Given the description of an element on the screen output the (x, y) to click on. 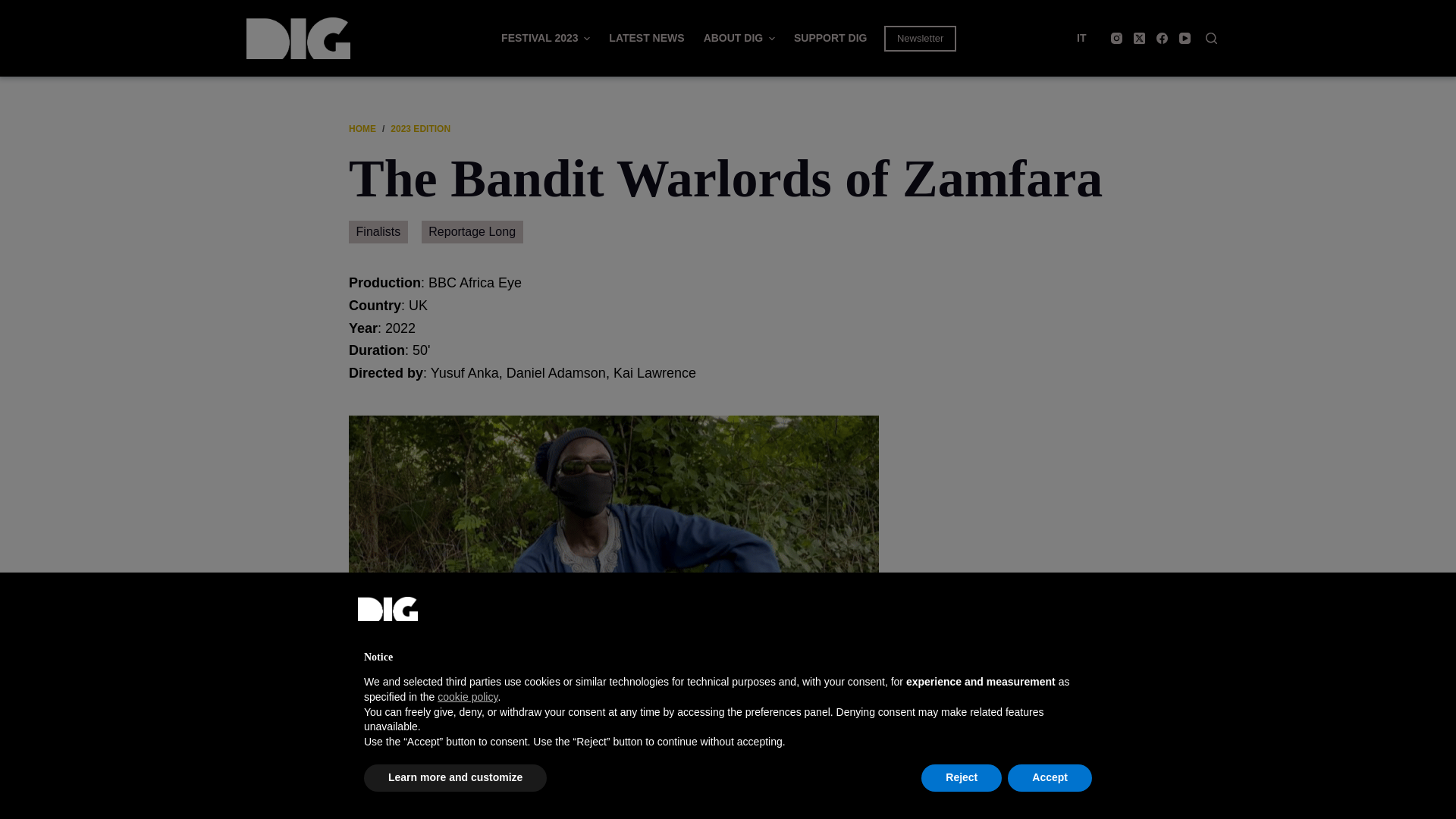
ABOUT DIG (739, 38)
Newsletter (919, 38)
FESTIVAL 2023 (545, 38)
SUPPORT DIG (830, 38)
LATEST NEWS (646, 38)
The Bandit Warlords of Zamfara (727, 178)
Skip to content (15, 7)
